Given the description of an element on the screen output the (x, y) to click on. 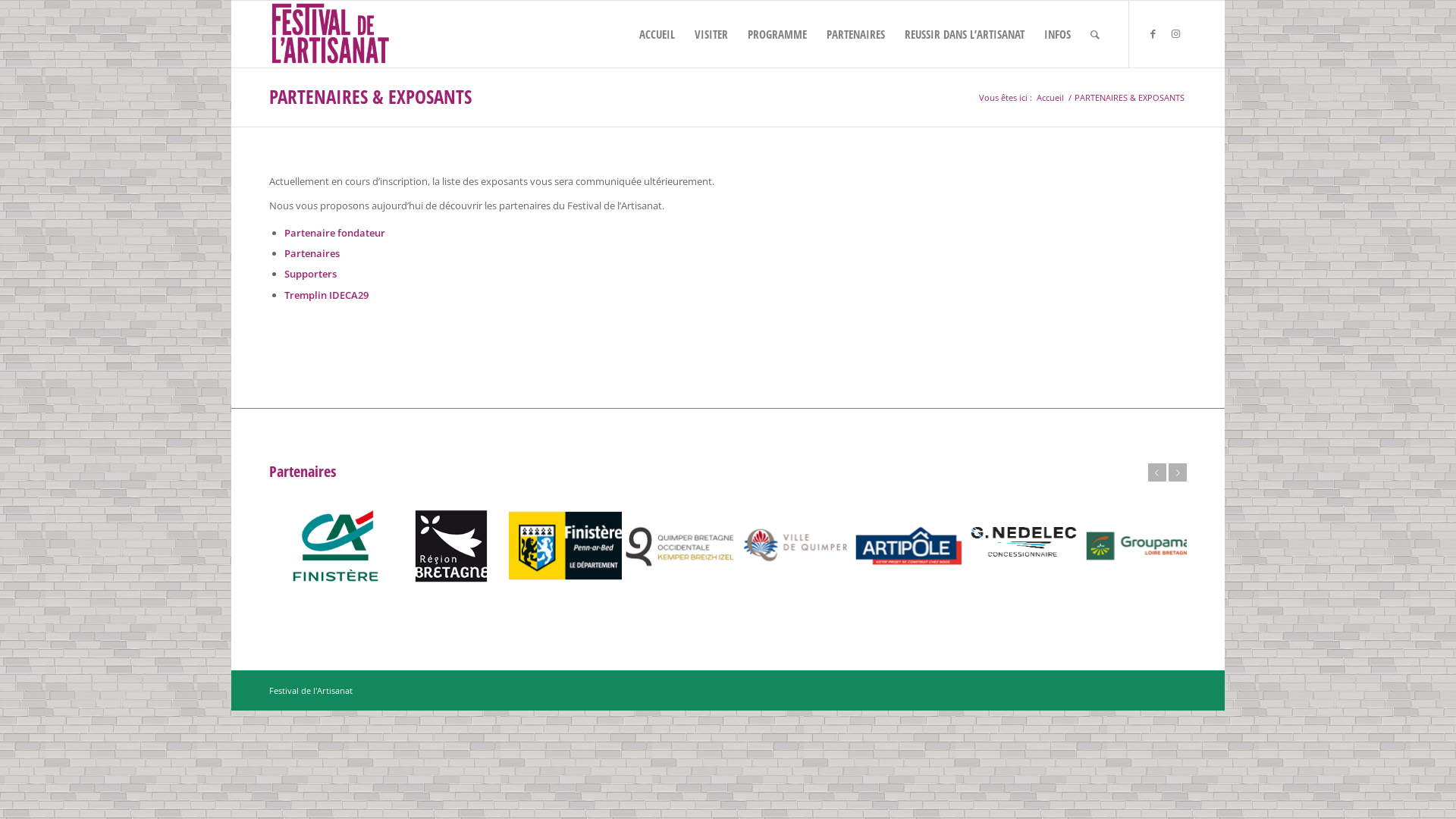
ACCUEIL Element type: text (656, 33)
PARTENAIRES & EXPOSANTS Element type: text (370, 96)
Suivant Element type: text (1177, 472)
PROGRAMME Element type: text (776, 33)
INFOS Element type: text (1057, 33)
VISITER Element type: text (710, 33)
PARTENAIRES Element type: text (855, 33)
Tremplin IDECA29 Element type: text (326, 294)
Partenaire fondateur Element type: text (334, 232)
Supporters Element type: text (310, 273)
Accueil Element type: text (1050, 97)
Facebook Element type: hover (1152, 32)
Partenaires Element type: text (311, 253)
Instagram Element type: hover (1175, 32)
